Given the description of an element on the screen output the (x, y) to click on. 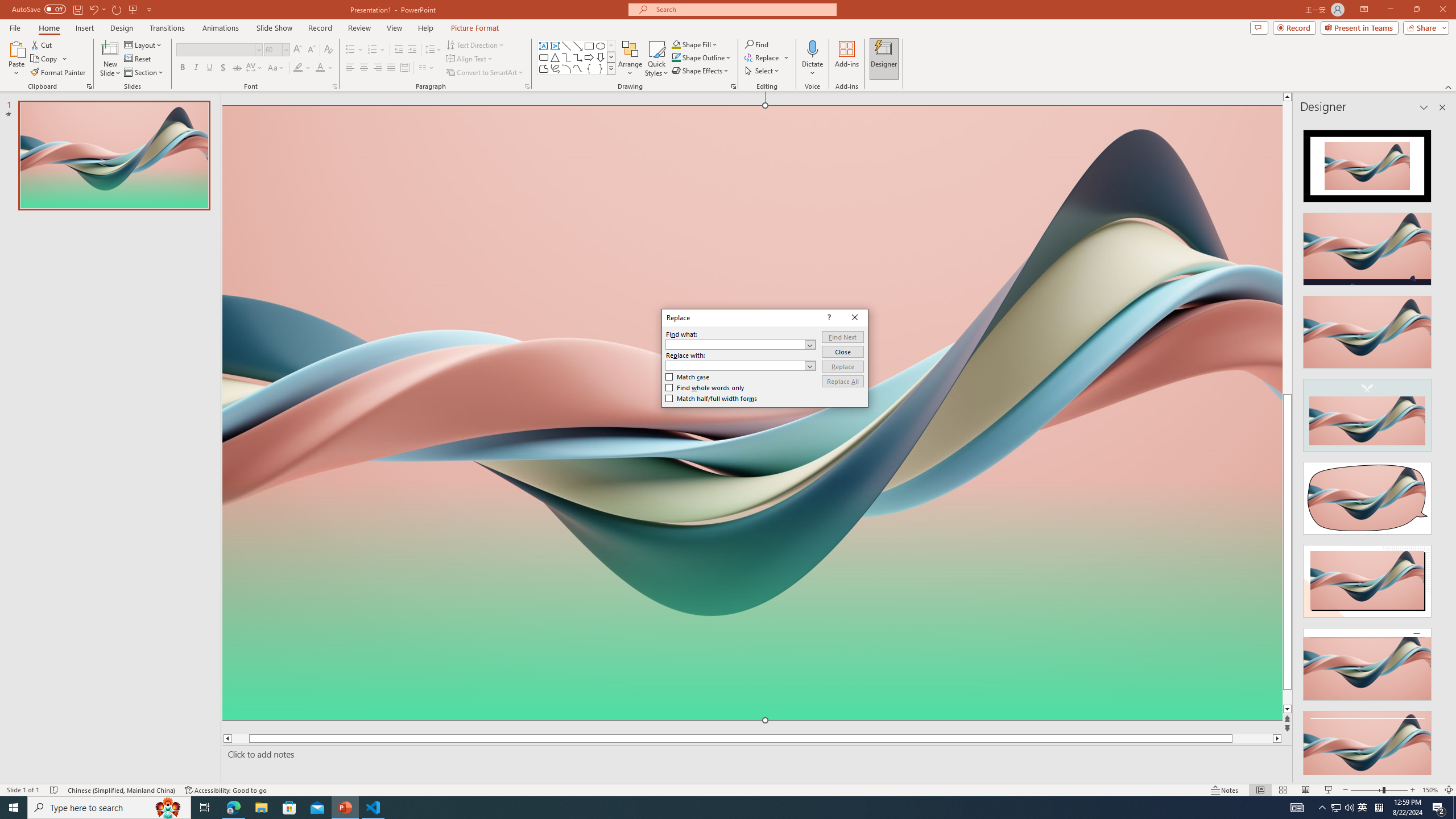
Match half/full width forms (711, 397)
Zoom 150% (1430, 790)
